Given the description of an element on the screen output the (x, y) to click on. 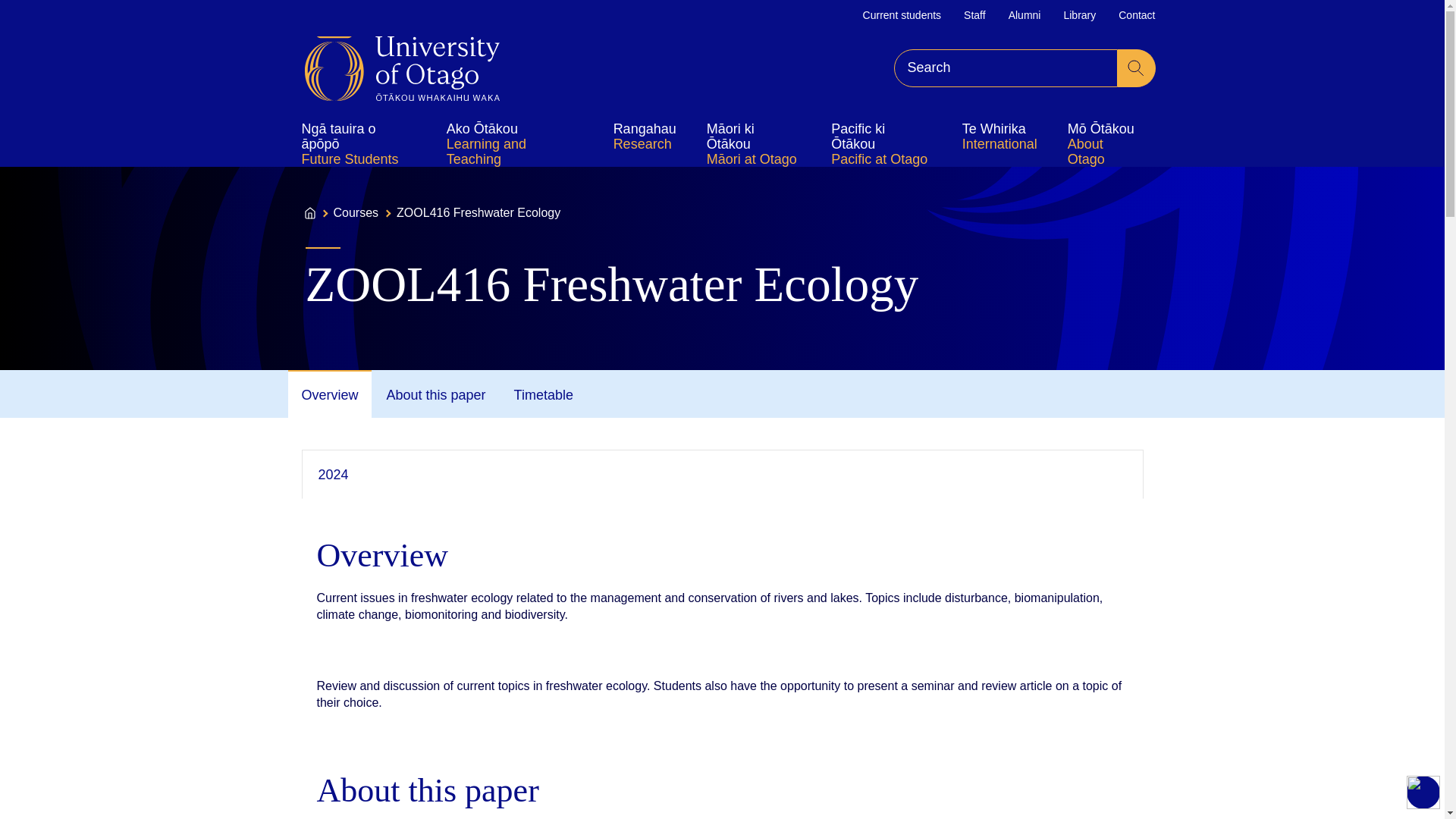
Library (1079, 15)
Current students (902, 15)
Contact (1136, 15)
Home (402, 68)
Staff (974, 15)
Accessibility Menu (1422, 792)
Alumni (1025, 15)
